Given the description of an element on the screen output the (x, y) to click on. 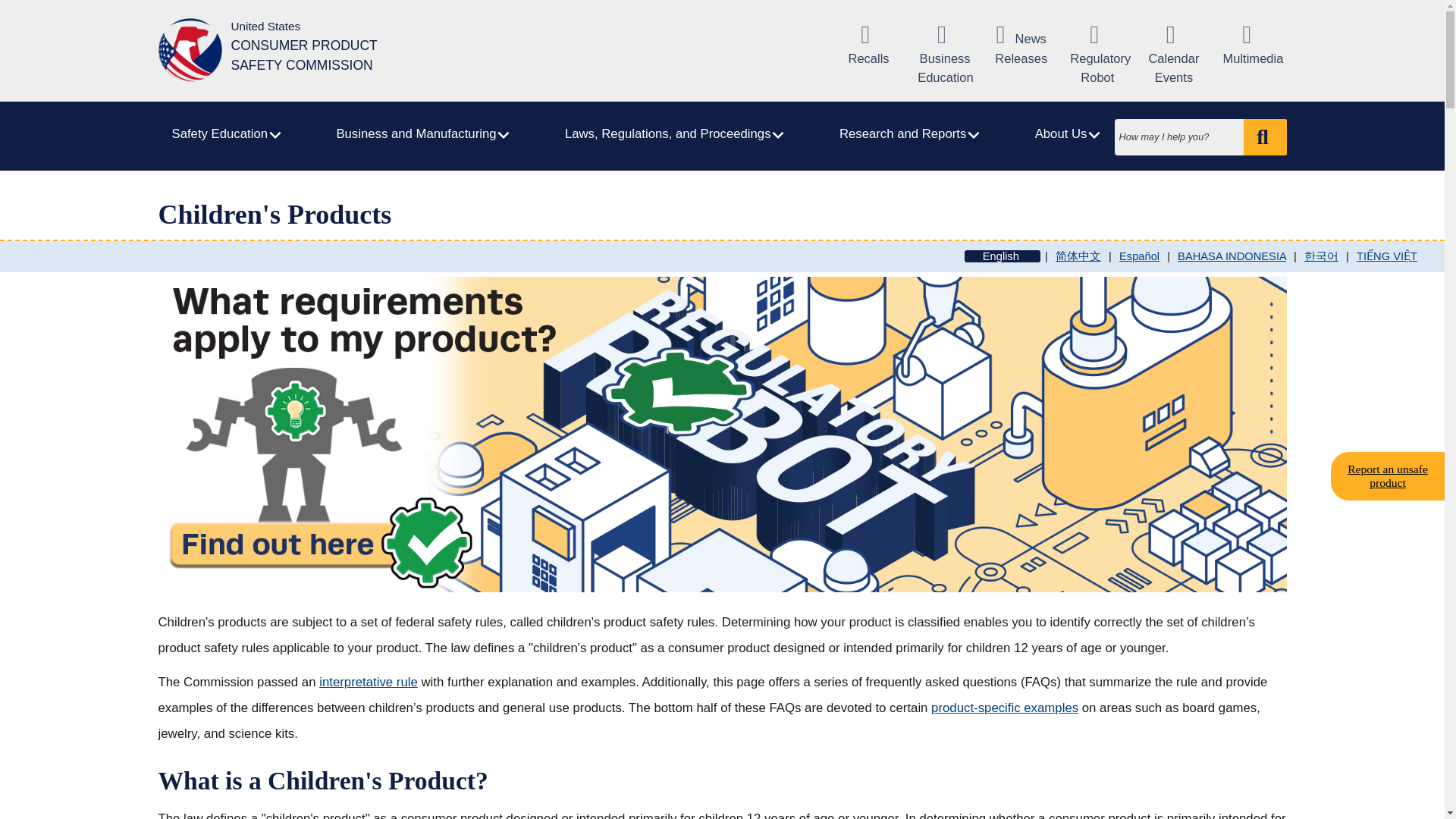
Recalls (868, 45)
View this page in BAHASA INDONESIA (1231, 256)
BAHASA INDONESIA (1231, 256)
About Us (1065, 134)
Multimedia (1248, 45)
product-specific examples (1004, 708)
Safety Education (223, 134)
CPSC home (271, 51)
Business and Manufacturing (419, 134)
